Given the description of an element on the screen output the (x, y) to click on. 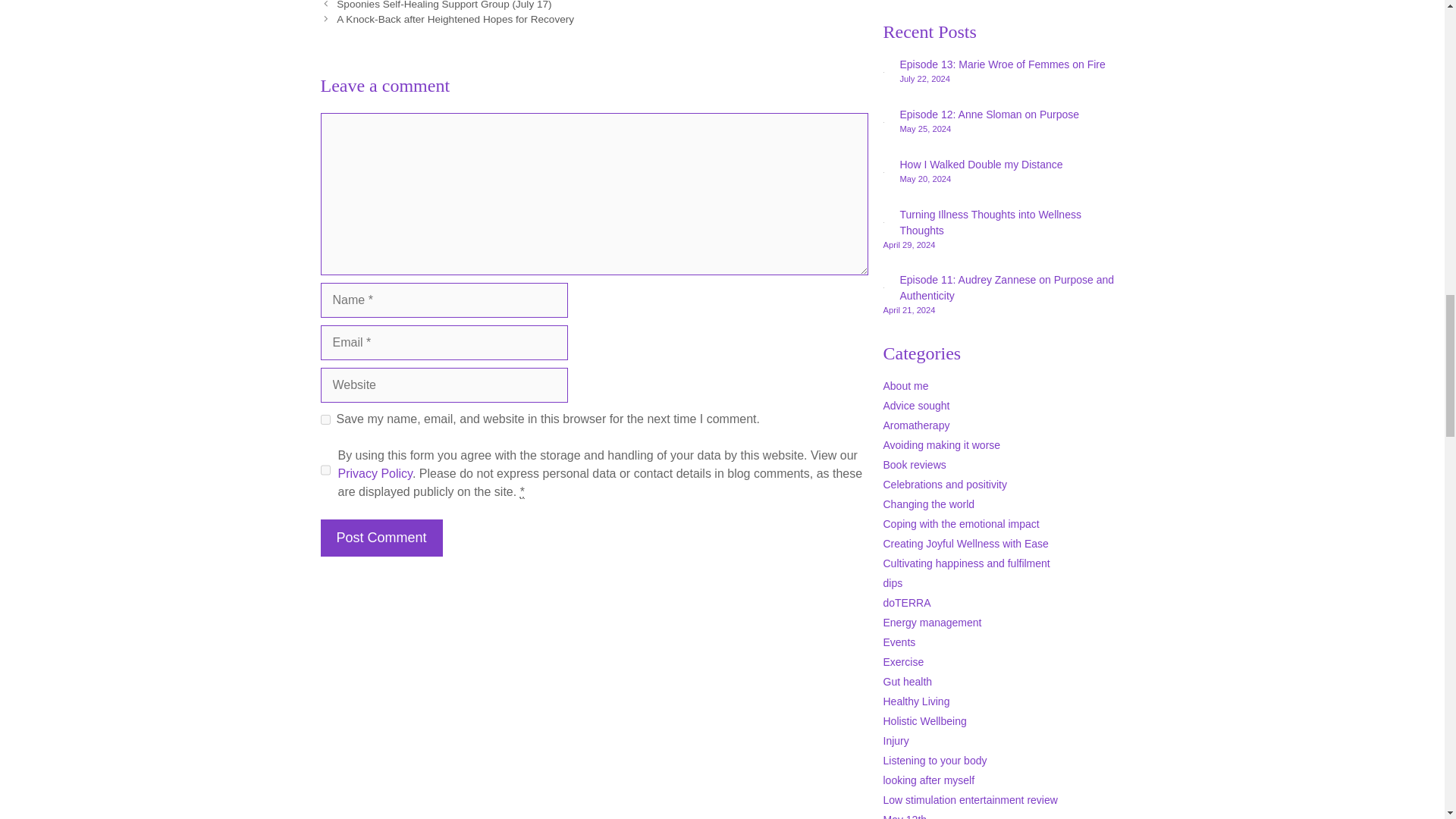
11:26 am (924, 128)
Post Comment (381, 537)
12:22 pm (924, 78)
yes (325, 419)
Privacy Policy (374, 472)
Post Comment (381, 537)
A Knock-Back after Heightened Hopes for Recovery (454, 19)
